Given the description of an element on the screen output the (x, y) to click on. 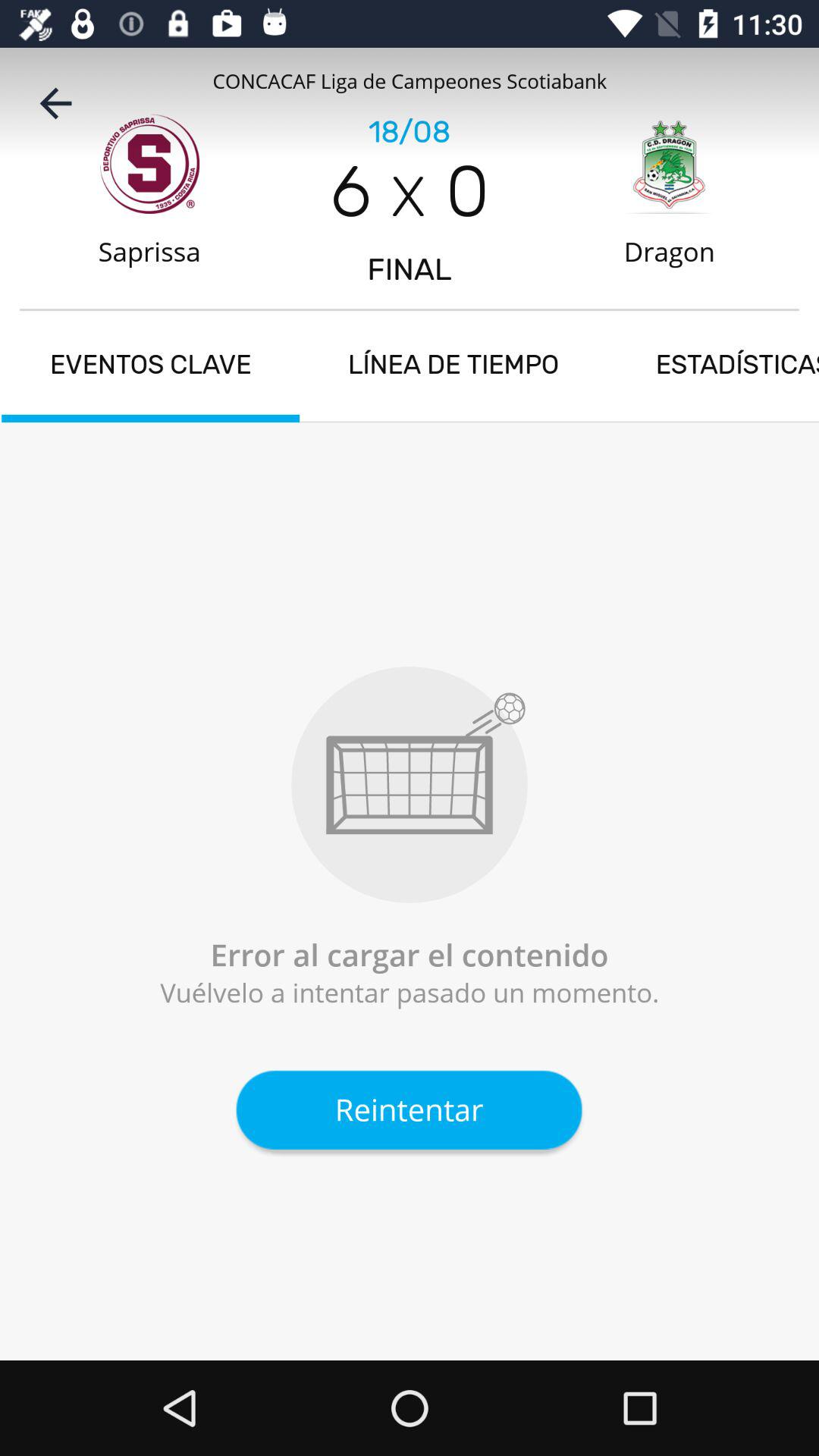
click the item above the saprissa item (55, 103)
